Given the description of an element on the screen output the (x, y) to click on. 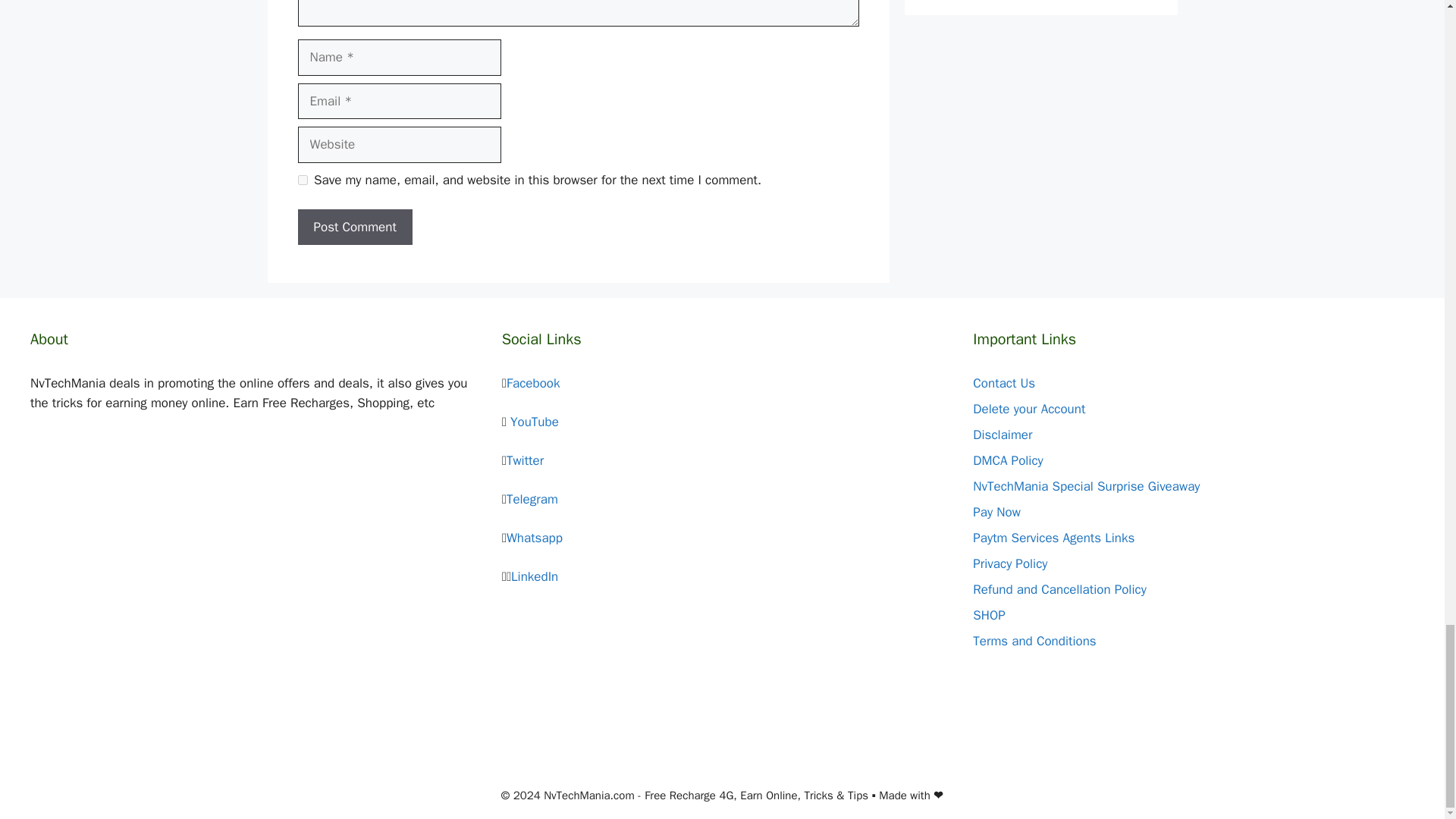
yes (302, 180)
Post Comment (354, 227)
